Given the description of an element on the screen output the (x, y) to click on. 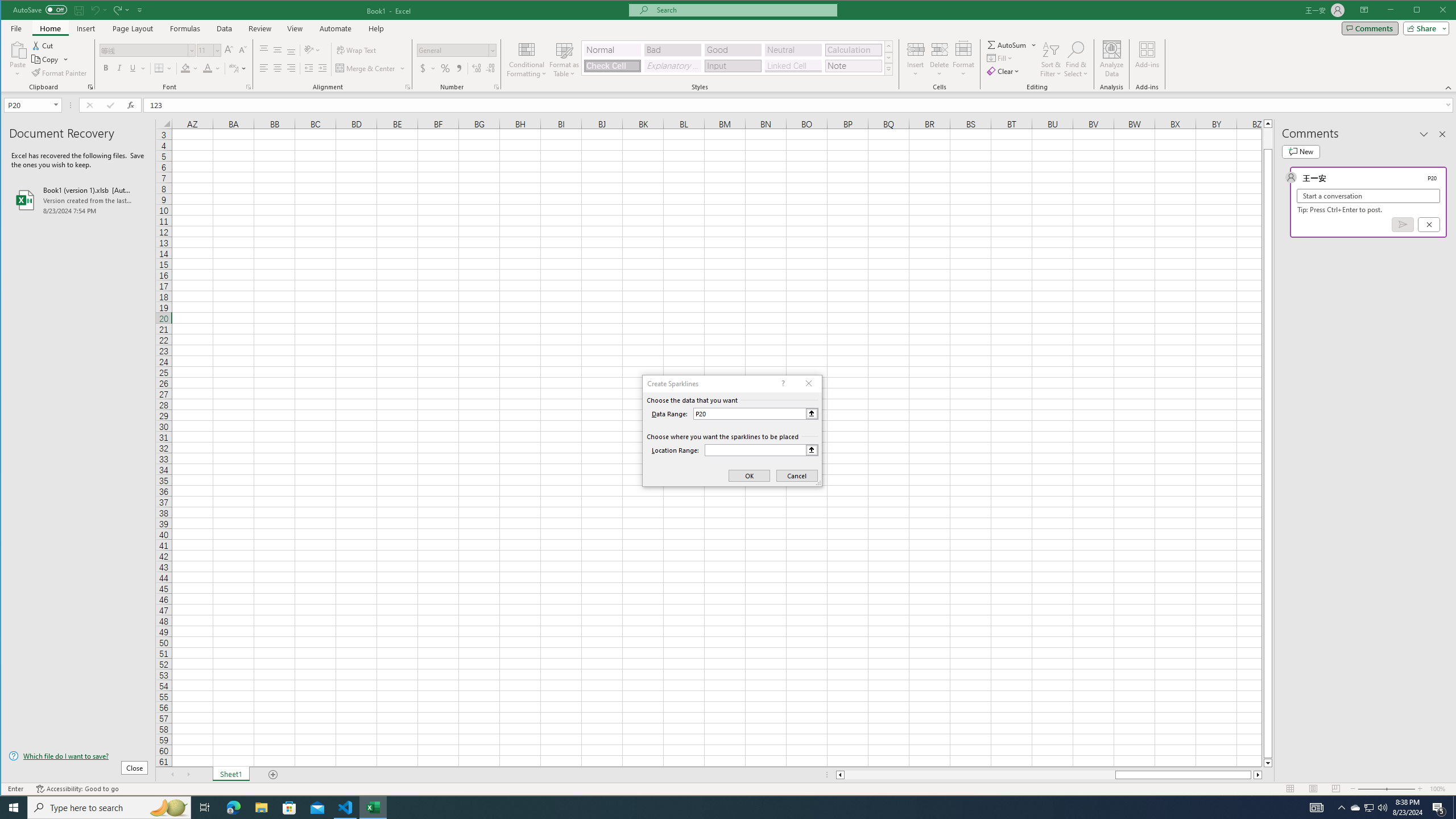
Borders (163, 68)
Increase Indent (322, 68)
Copy (45, 59)
Find & Select (1075, 59)
Merge & Center (370, 68)
Input (732, 65)
Fill Color (189, 68)
